Given the description of an element on the screen output the (x, y) to click on. 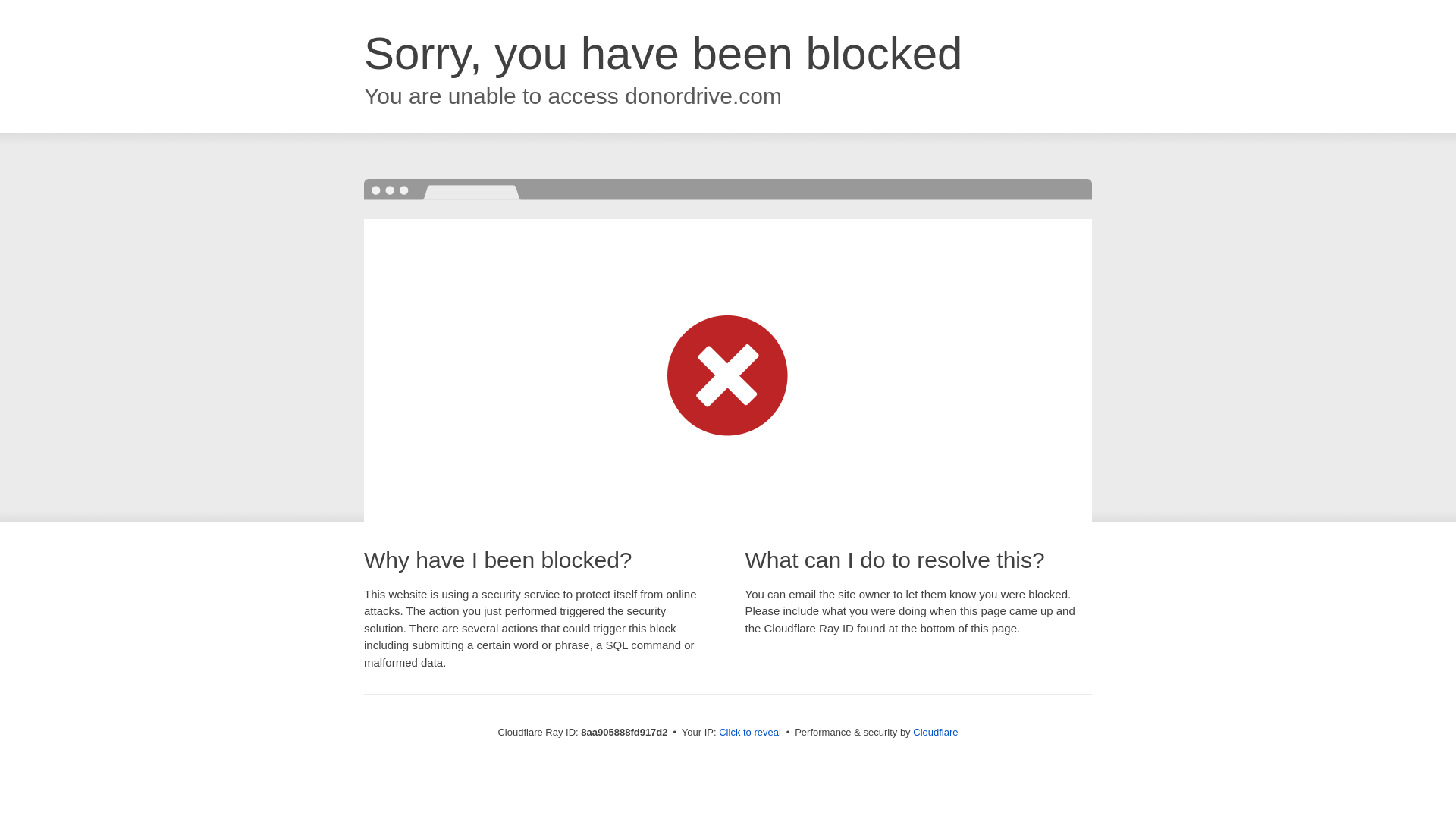
Click to reveal (749, 732)
Cloudflare (935, 731)
